Given the description of an element on the screen output the (x, y) to click on. 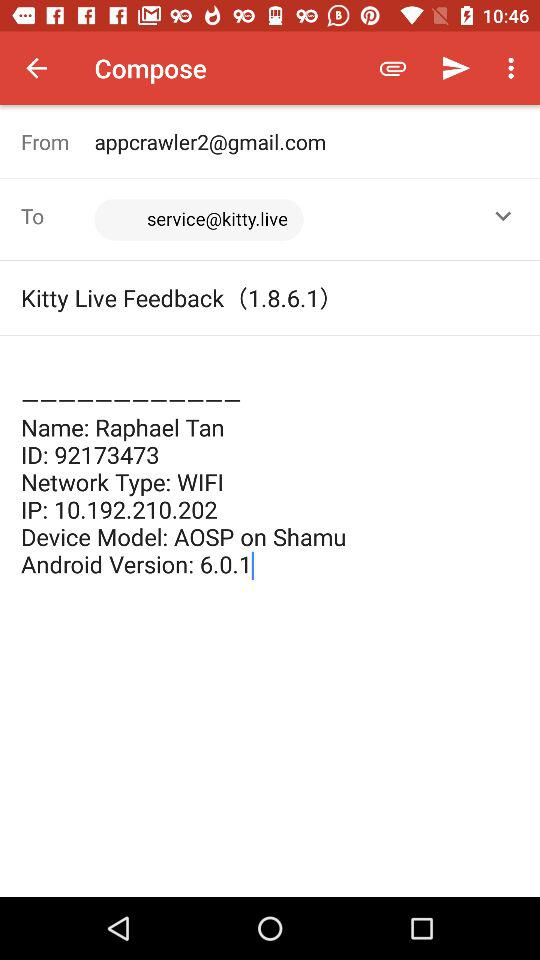
turn off icon above appcrawler2@gmail.com (392, 67)
